Given the description of an element on the screen output the (x, y) to click on. 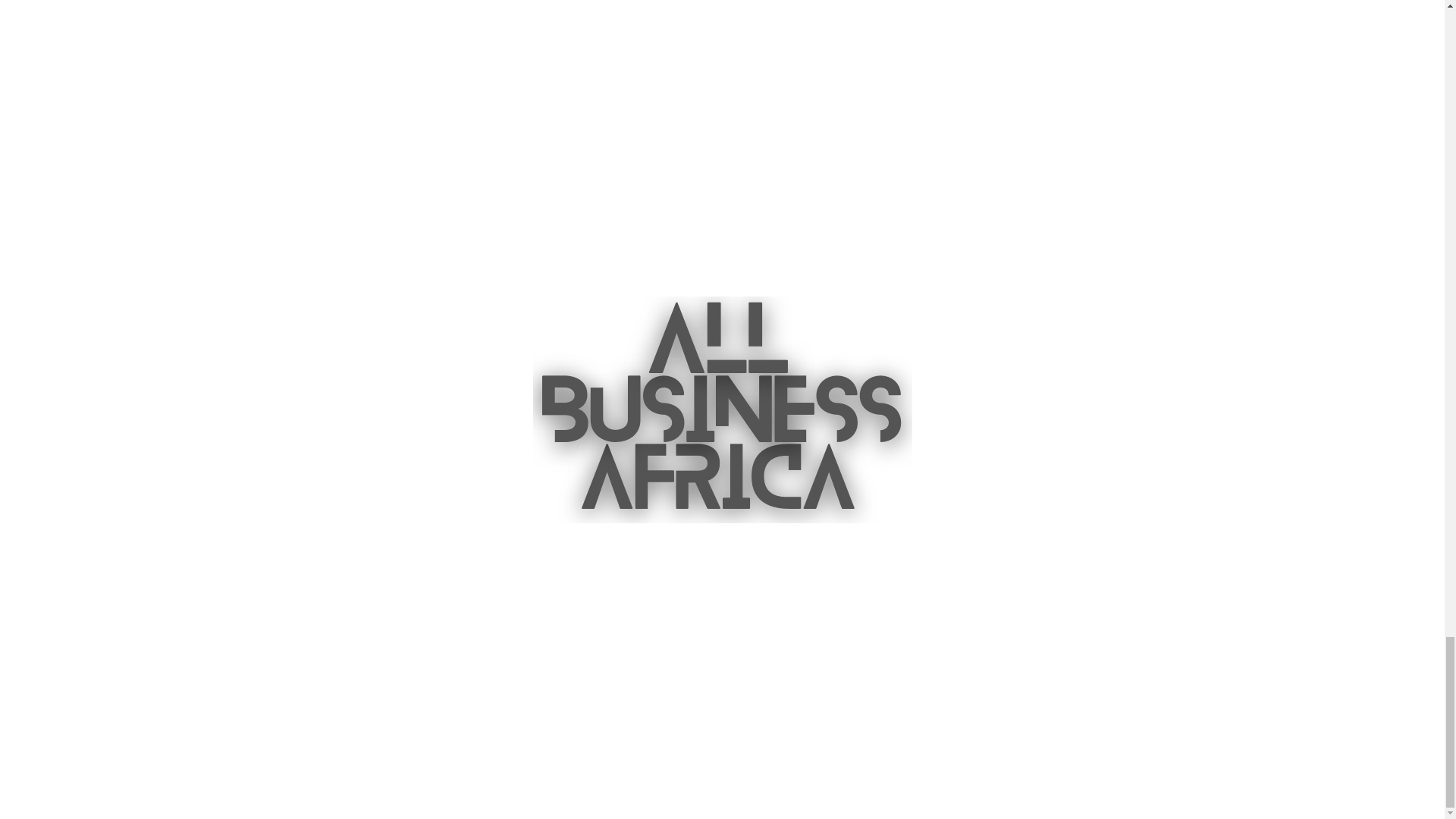
Open Ed Africa (934, 674)
Visit Africa (784, 665)
LogiKonnect (1184, 674)
Uhusiano (1059, 674)
Rafiki (809, 730)
